Given the description of an element on the screen output the (x, y) to click on. 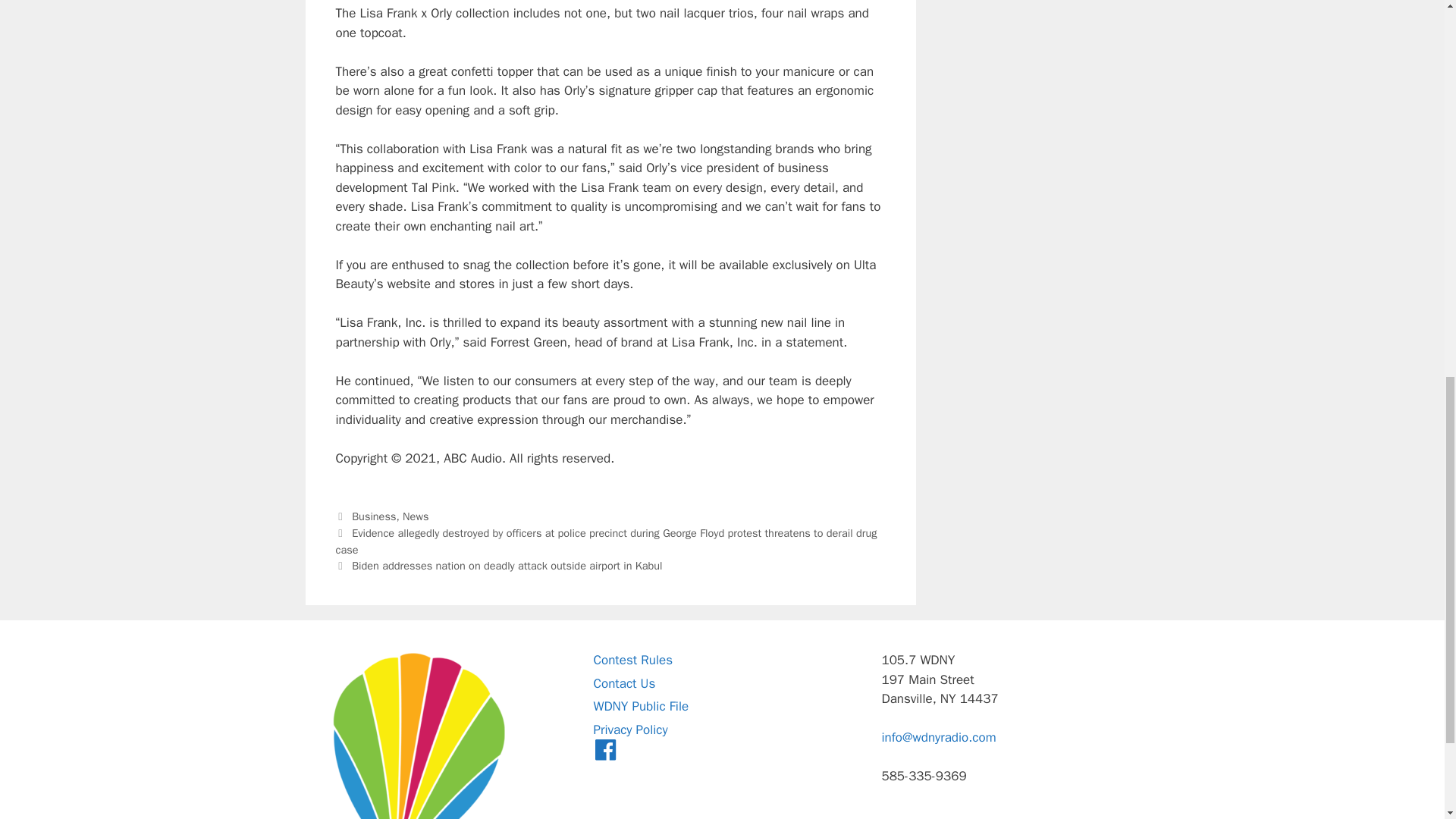
WDNY Public File (640, 706)
Contest Rules (632, 659)
Menu Item (605, 752)
Privacy Policy (629, 729)
Contact Us (623, 683)
News (415, 516)
Business (374, 516)
